Given the description of an element on the screen output the (x, y) to click on. 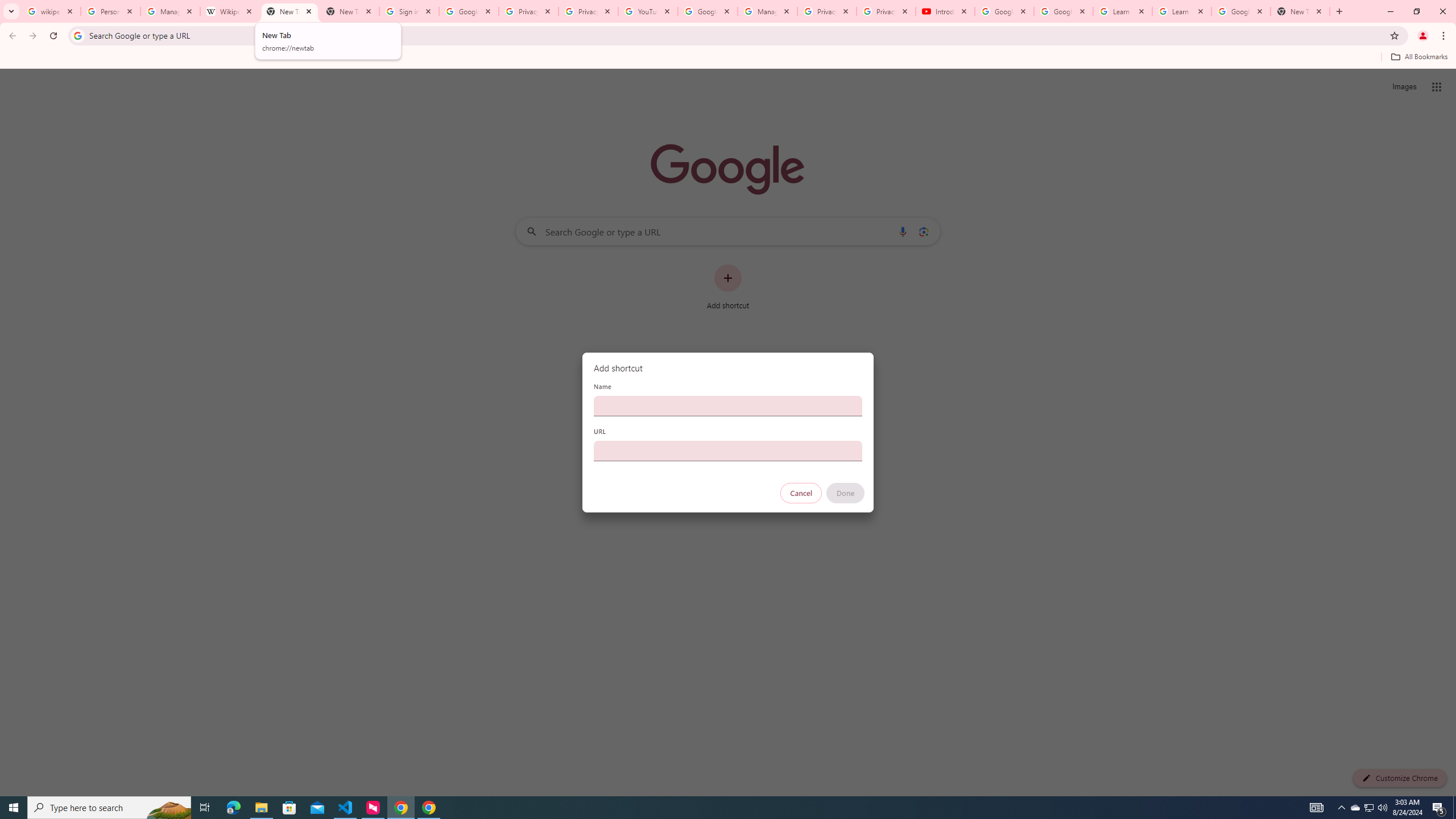
URL (727, 450)
Google Account Help (1004, 11)
Done (845, 493)
New Tab (349, 11)
Google Account (1241, 11)
New Tab (1300, 11)
Bookmarks (728, 58)
Sign in - Google Accounts (409, 11)
Manage your Location History - Google Search Help (170, 11)
